Given the description of an element on the screen output the (x, y) to click on. 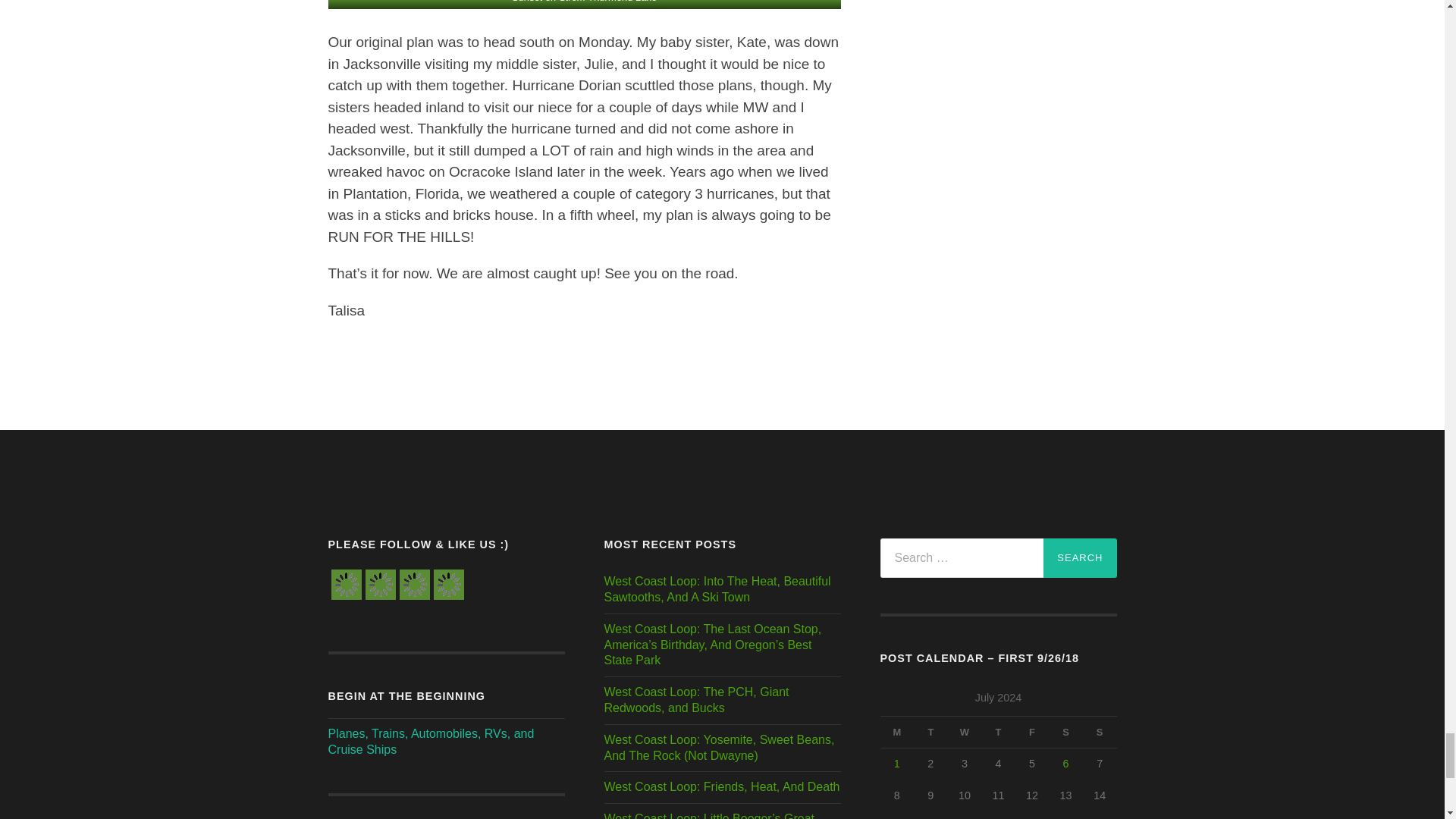
Search (1079, 558)
Search (1079, 558)
